Given the description of an element on the screen output the (x, y) to click on. 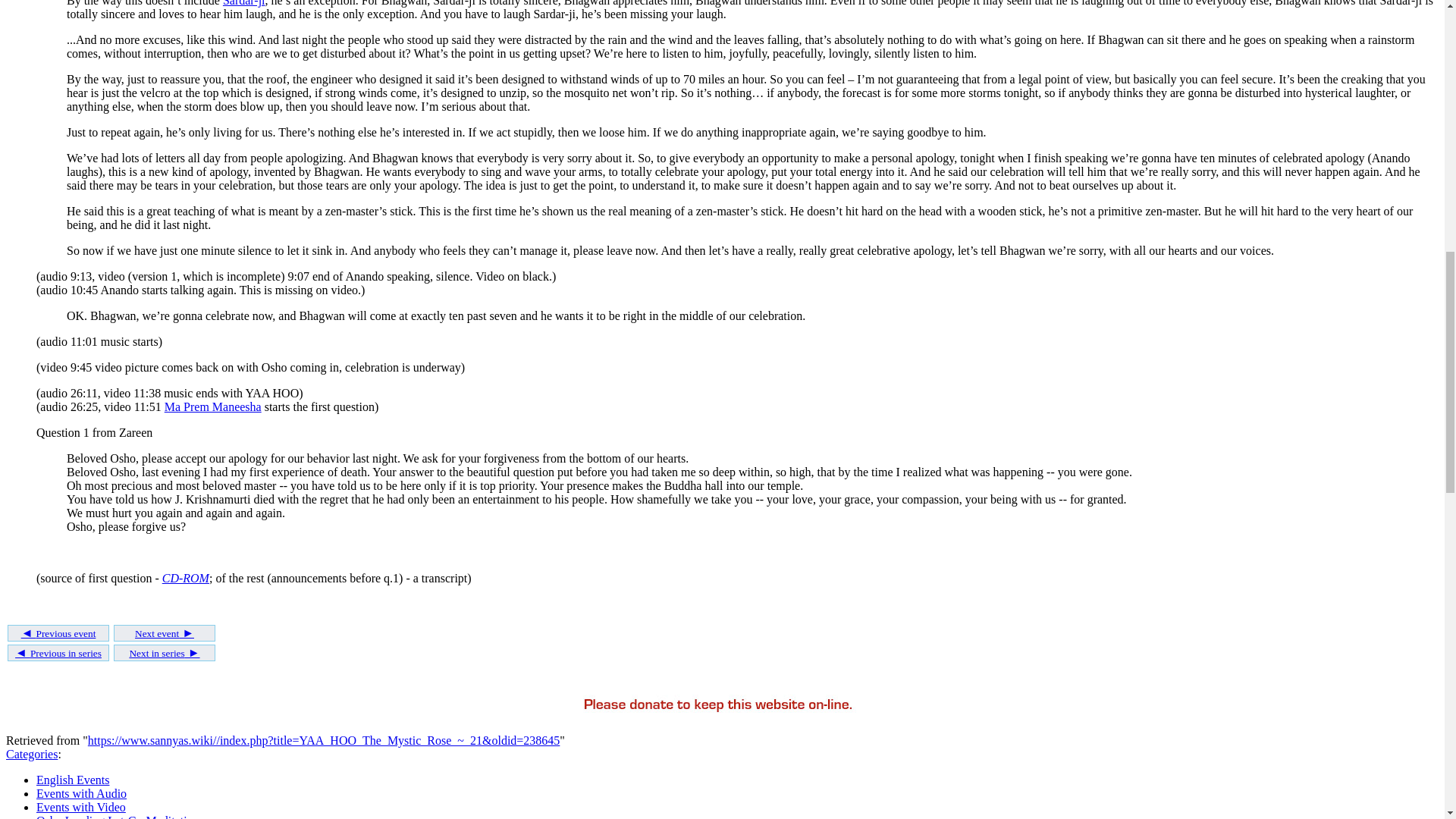
English Events (72, 779)
Categories (31, 753)
CD-ROM (185, 577)
Sardar-ji (243, 3)
Ma Prem Maneesha (213, 406)
Glossary (185, 577)
Osho Leading Let-Go Meditation (117, 816)
Events with Video (80, 807)
Events with Audio (81, 793)
Special:Categories (31, 753)
Ma Prem Maneesha (213, 406)
Sw Sardar Gurudayal Singh (243, 3)
